Given the description of an element on the screen output the (x, y) to click on. 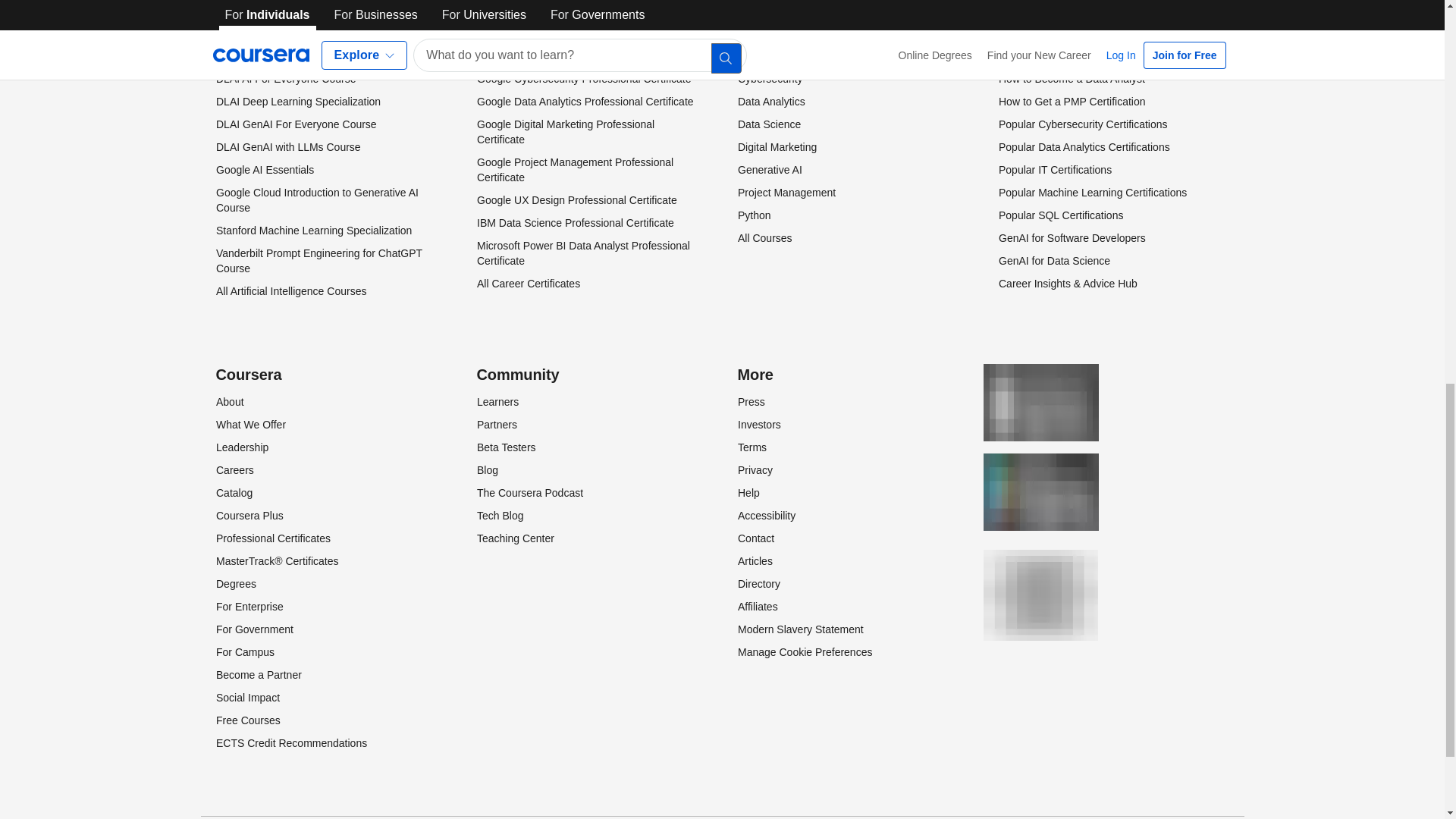
Google AI Essentials (264, 169)
Google UX Design Professional Certificate (576, 200)
All Artificial Intelligence Courses (290, 291)
DLAI Deep Learning Specialization (297, 101)
Vanderbilt Prompt Engineering for ChatGPT Course (318, 260)
Google Digital Marketing Professional Certificate (564, 131)
Google Cloud Introduction to Generative AI Course (316, 199)
Google Data Analytics Professional Certificate (584, 101)
IBM Data Science Professional Certificate (574, 223)
DLAI GenAI with LLMs Course (287, 146)
